Given the description of an element on the screen output the (x, y) to click on. 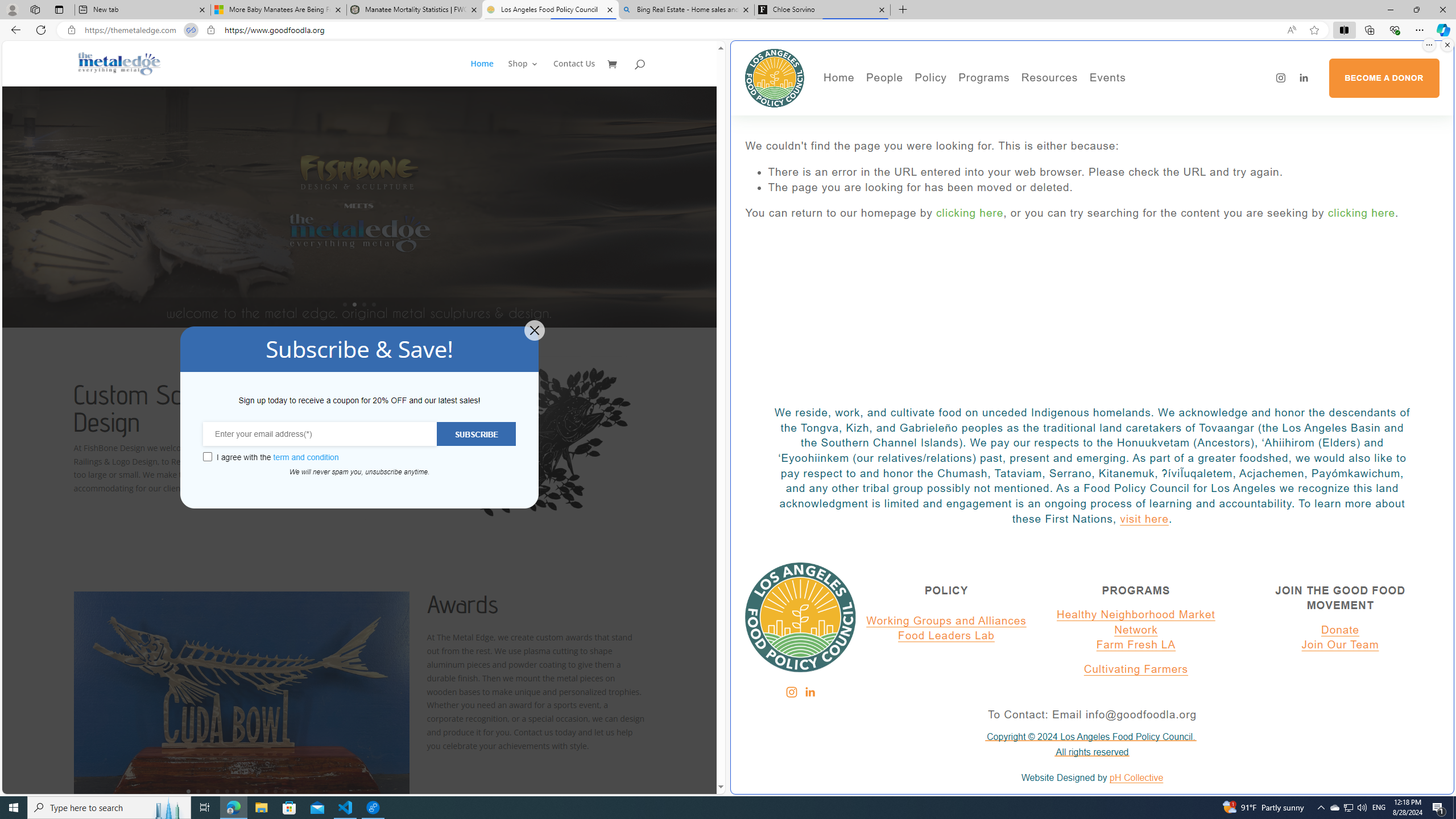
People (922, 116)
pH Collective (1136, 777)
Farm Fresh LA (1136, 645)
Press (922, 132)
Events (1146, 99)
11 (284, 790)
Los Angeles Food Policy Council (550, 9)
Bing Real Estate - Home sales and rental listings (685, 9)
